Given the description of an element on the screen output the (x, y) to click on. 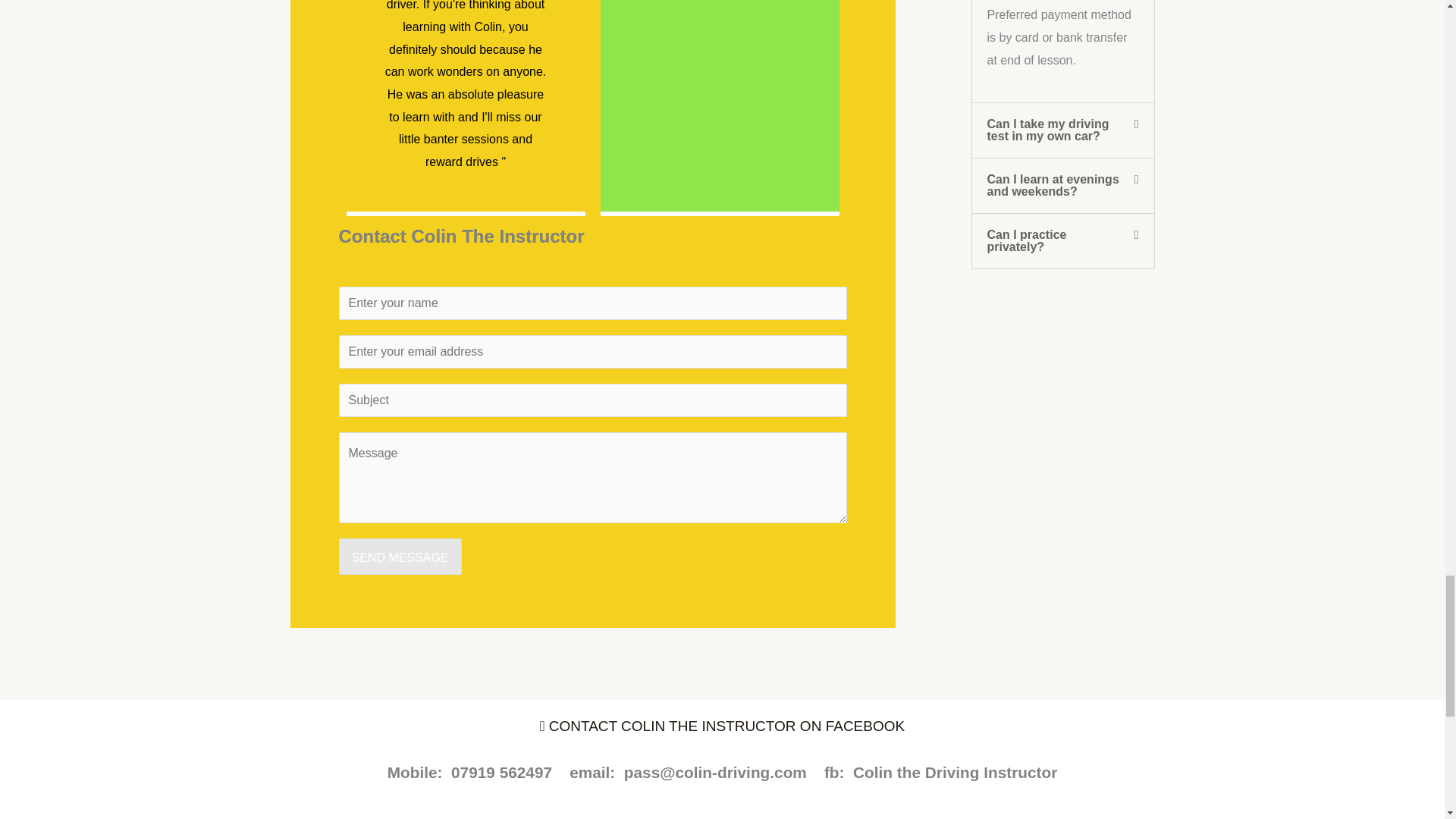
Can I learn at evenings and weekends? (1053, 185)
Can I practice privately? (1027, 240)
SEND MESSAGE (399, 556)
CONTACT COLIN THE INSTRUCTOR ON FACEBOOK (722, 725)
Can I take my driving test in my own car? (1048, 129)
